Given the description of an element on the screen output the (x, y) to click on. 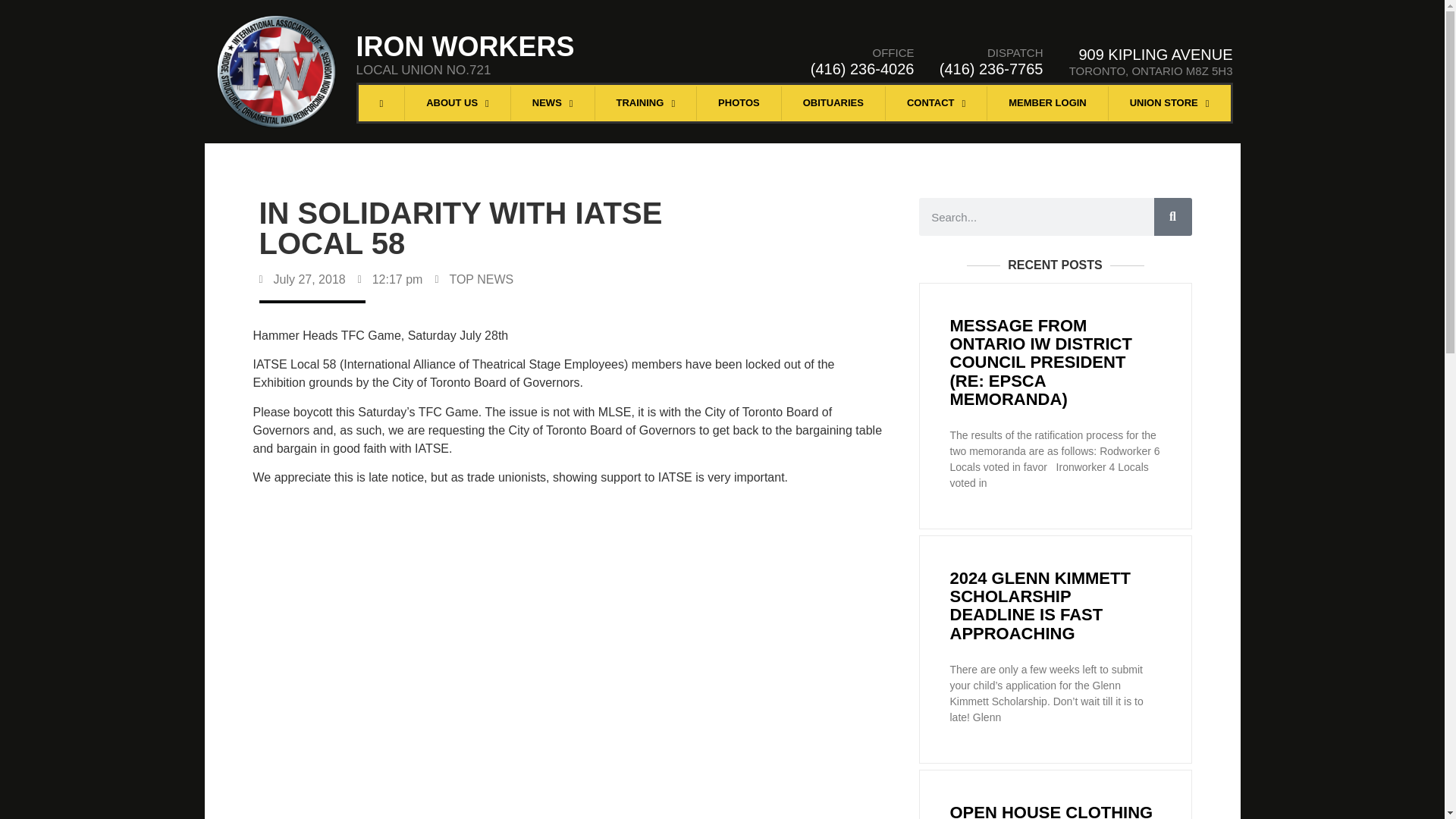
ABOUT US (457, 103)
OBITUARIES (833, 103)
TRAINING (646, 103)
PHOTOS (738, 103)
CONTACT (936, 103)
NEWS (552, 103)
